Given the description of an element on the screen output the (x, y) to click on. 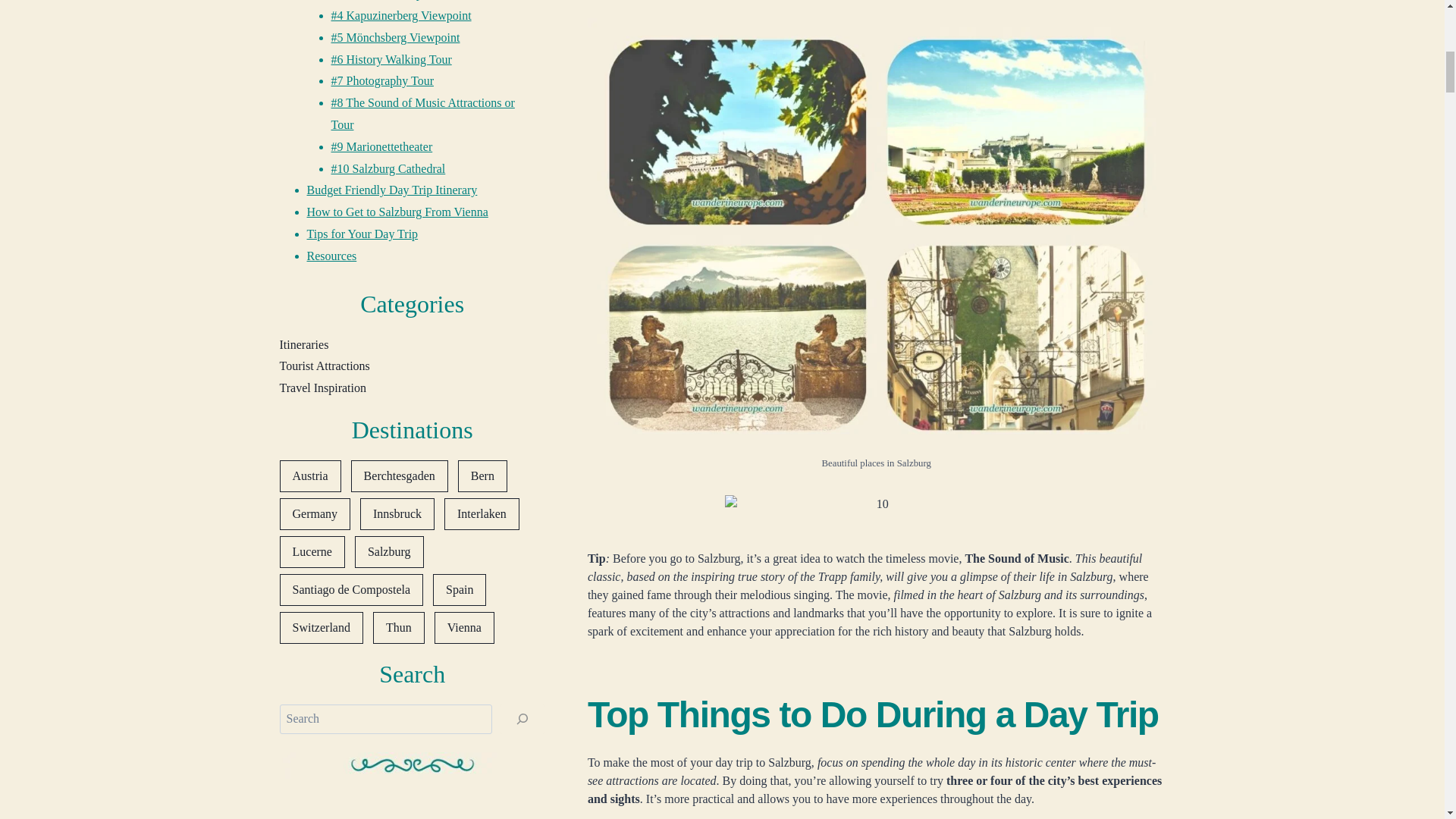
How to Make the Most of Your Salzburg Day Trip From Vienna 3 (876, 510)
